Given the description of an element on the screen output the (x, y) to click on. 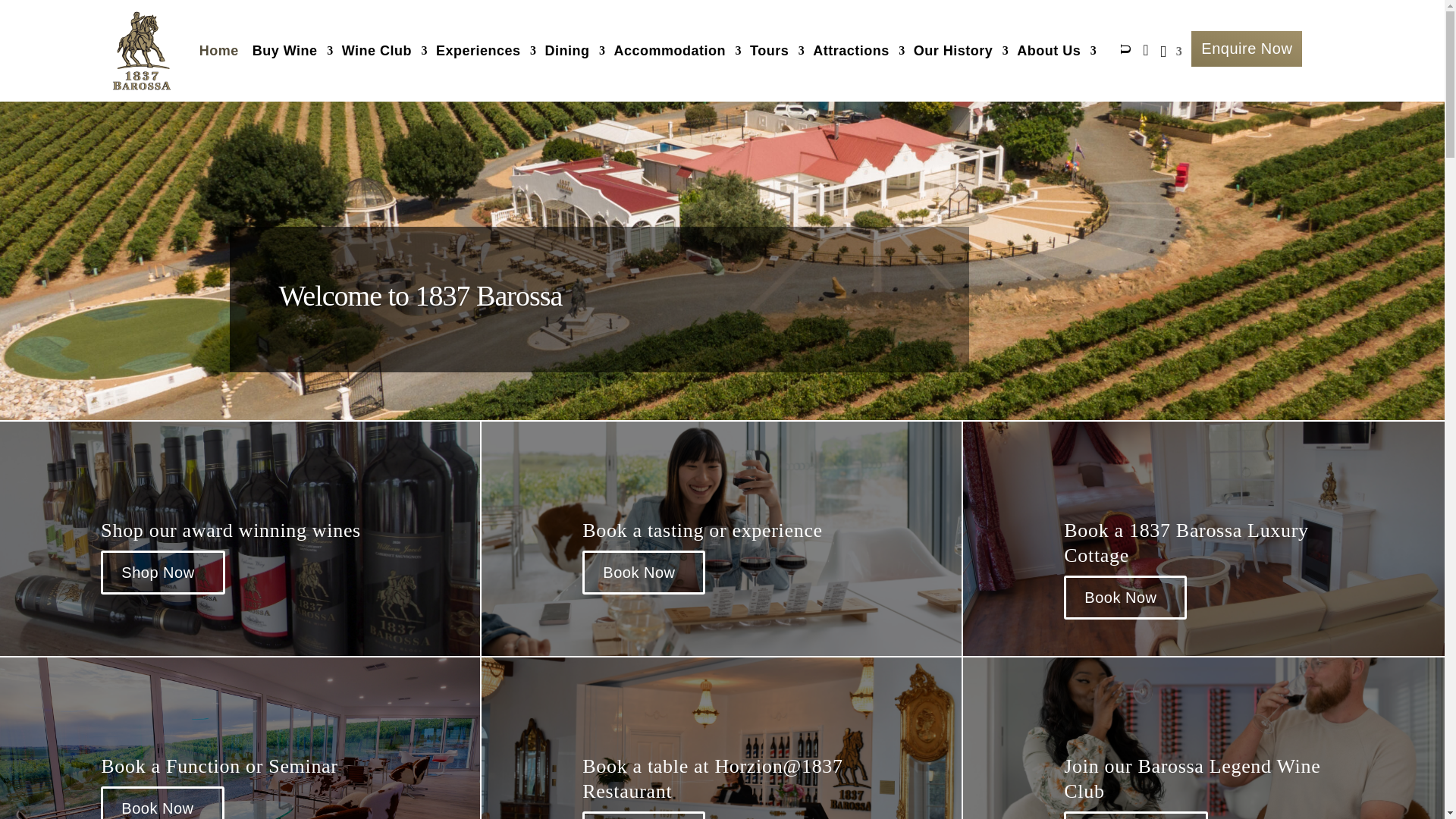
Wine Club (382, 50)
Accommodation (675, 50)
Experiences (483, 50)
Buy Wine (290, 50)
Home (218, 50)
Dining (571, 50)
